Given the description of an element on the screen output the (x, y) to click on. 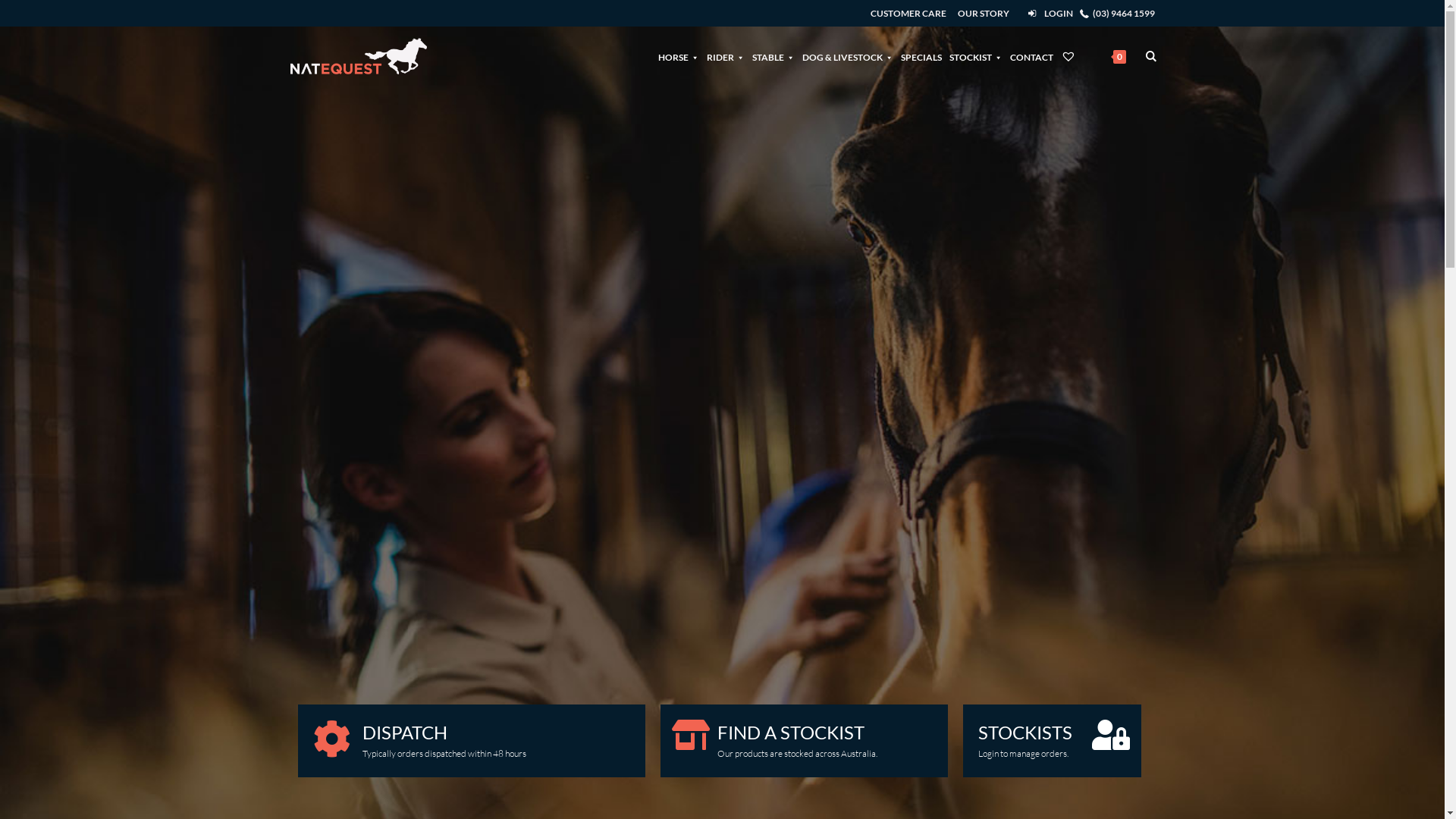
CUSTOMER CARE Element type: text (908, 13)
CONTACT Element type: text (1031, 57)
DISPATCH Element type: text (404, 732)
0 Element type: text (1109, 55)
SPECIALS Element type: text (921, 57)
(03) 9464 1599 Element type: text (1123, 12)
HORSE Element type: text (678, 57)
OUR STORY Element type: text (983, 13)
LOGIN Element type: text (1058, 12)
STOCKISTS Element type: text (1025, 732)
STABLE Element type: text (773, 57)
RIDER Element type: text (725, 57)
FIND A STOCKIST Element type: text (790, 732)
STOCKIST Element type: text (975, 57)
DOG & LIVESTOCK Element type: text (847, 57)
